Given the description of an element on the screen output the (x, y) to click on. 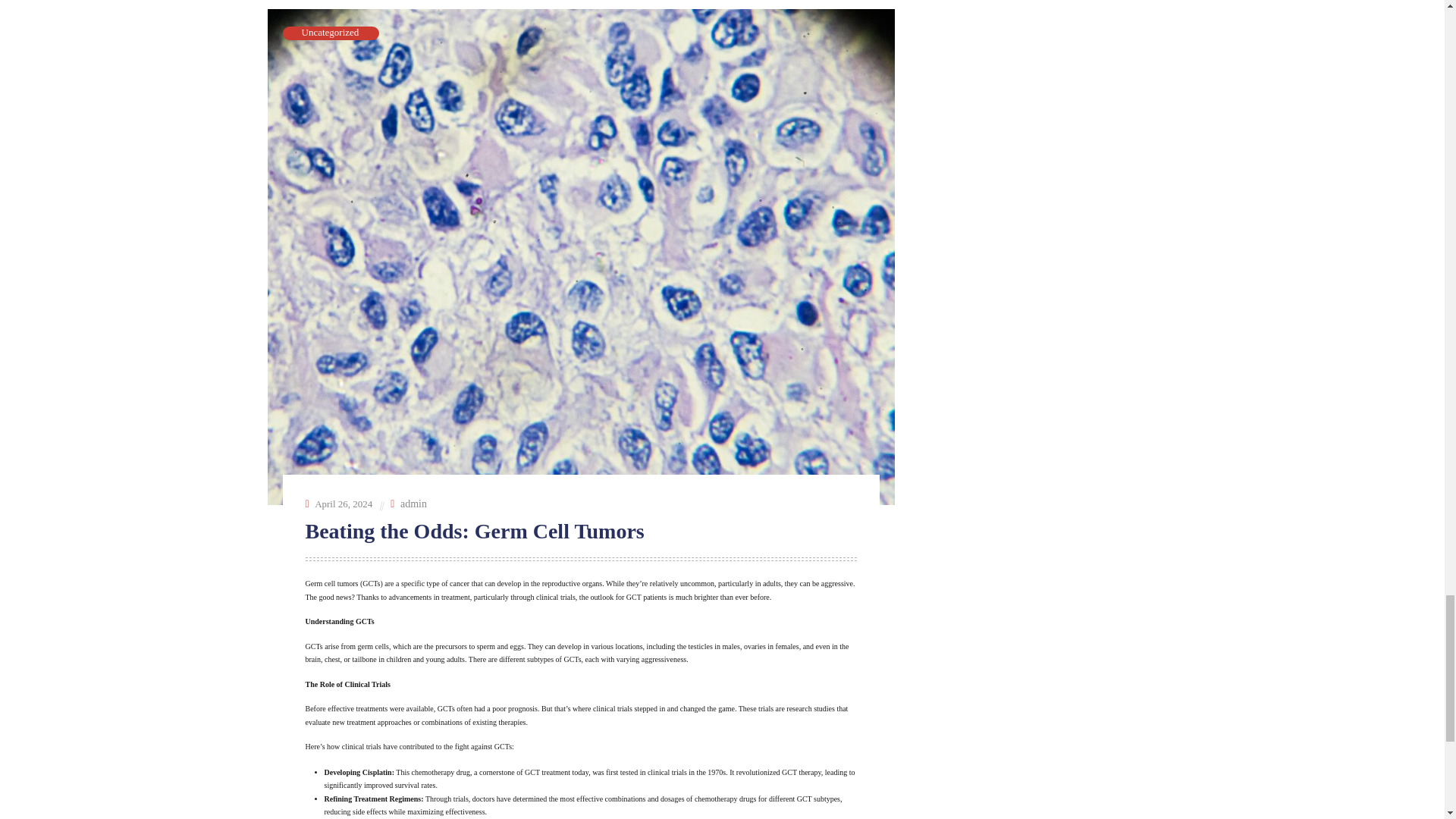
Uncategorized (330, 31)
Beating the Odds: Germ Cell Tumors  (476, 530)
April 26, 2024 (343, 502)
